Given the description of an element on the screen output the (x, y) to click on. 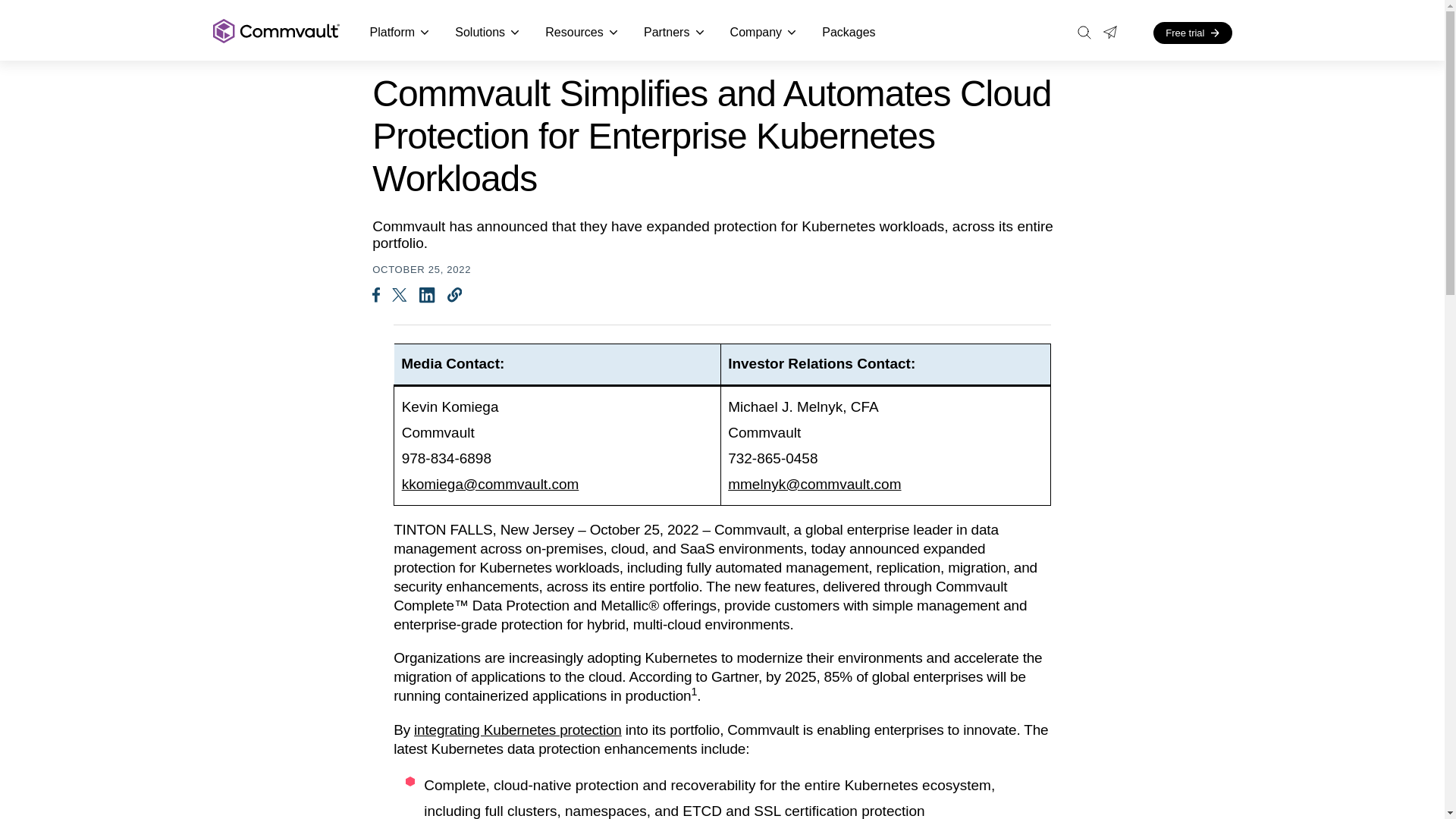
Solutions (487, 32)
Commvault - English - United States (275, 32)
Platform (401, 32)
